Given the description of an element on the screen output the (x, y) to click on. 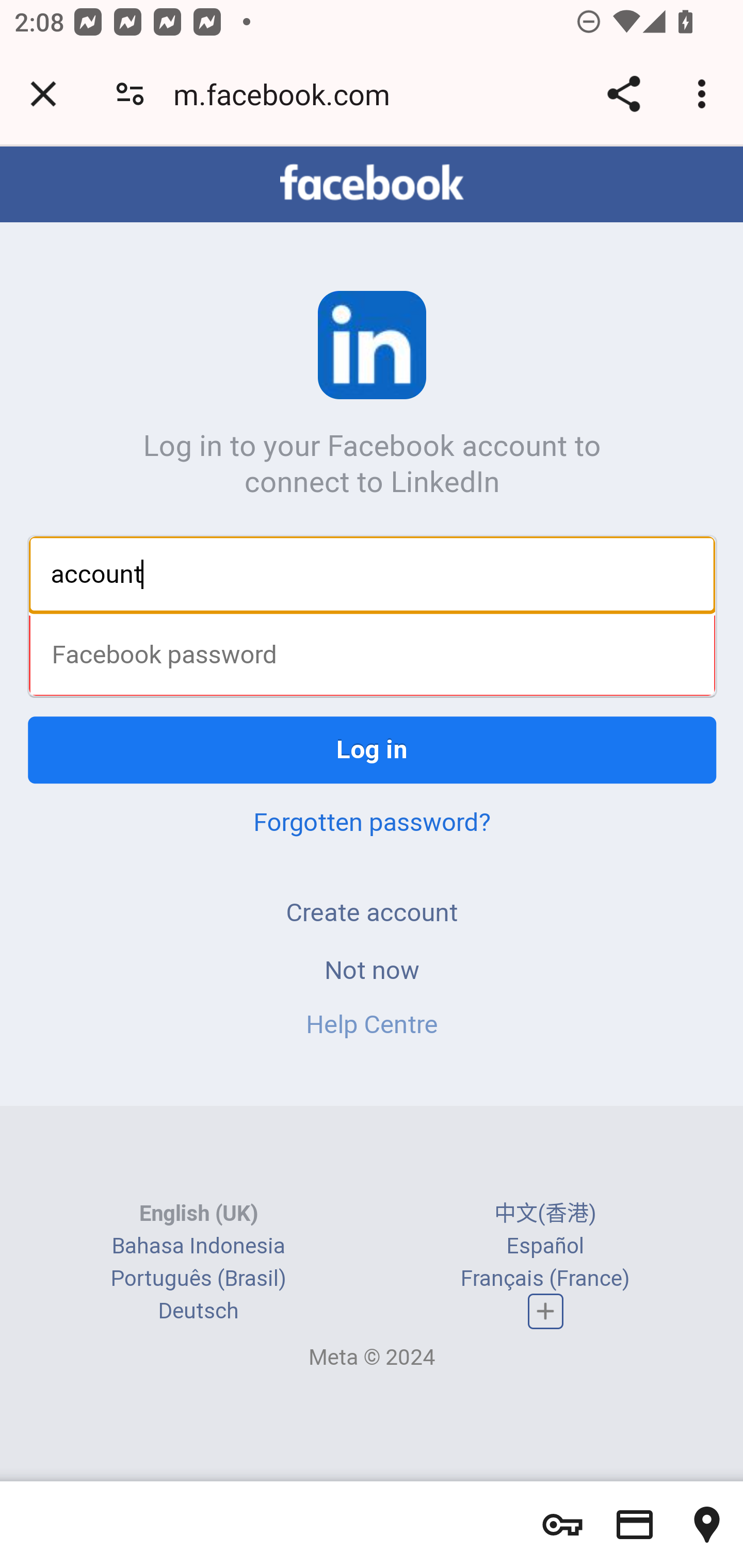
Close tab (43, 93)
Share (623, 93)
Customize and control Google Chrome (705, 93)
Connection is secure (129, 93)
m.facebook.com (288, 93)
facebook (371, 183)
account (372, 575)
Log in (372, 751)
Forgotten password? (371, 823)
Create account (371, 913)
Not now (371, 971)
Help Centre (371, 1026)
中文(香港) (544, 1213)
Bahasa Indonesia (198, 1246)
Español (545, 1246)
Português (Brasil) (197, 1278)
Français (France) (544, 1278)
Complete list of languages (545, 1312)
Deutsch (197, 1311)
Show saved passwords and password options (562, 1524)
Show saved payment methods (634, 1524)
Show saved addresses (706, 1524)
